Given the description of an element on the screen output the (x, y) to click on. 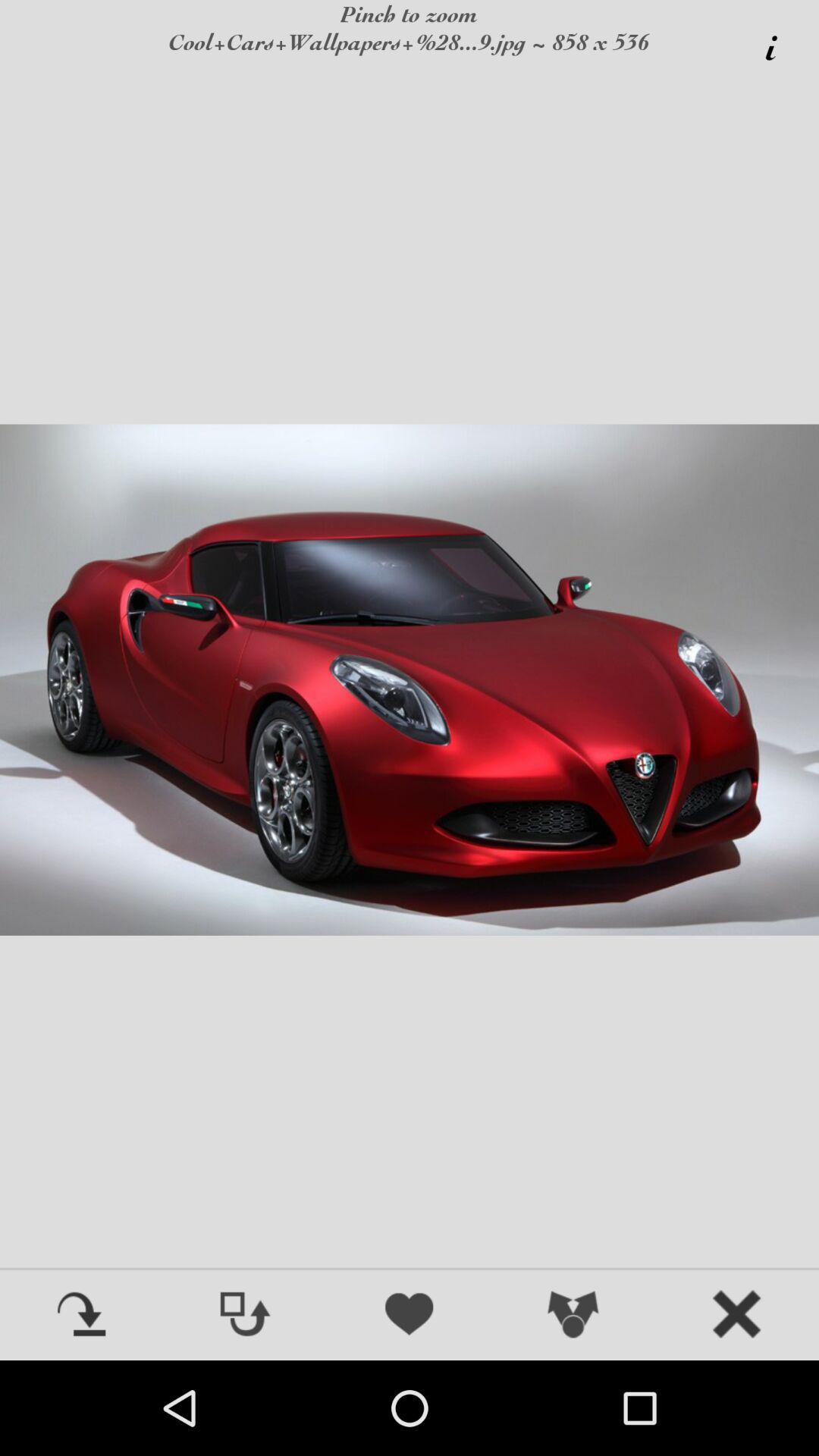
select view image above (245, 1315)
